Given the description of an element on the screen output the (x, y) to click on. 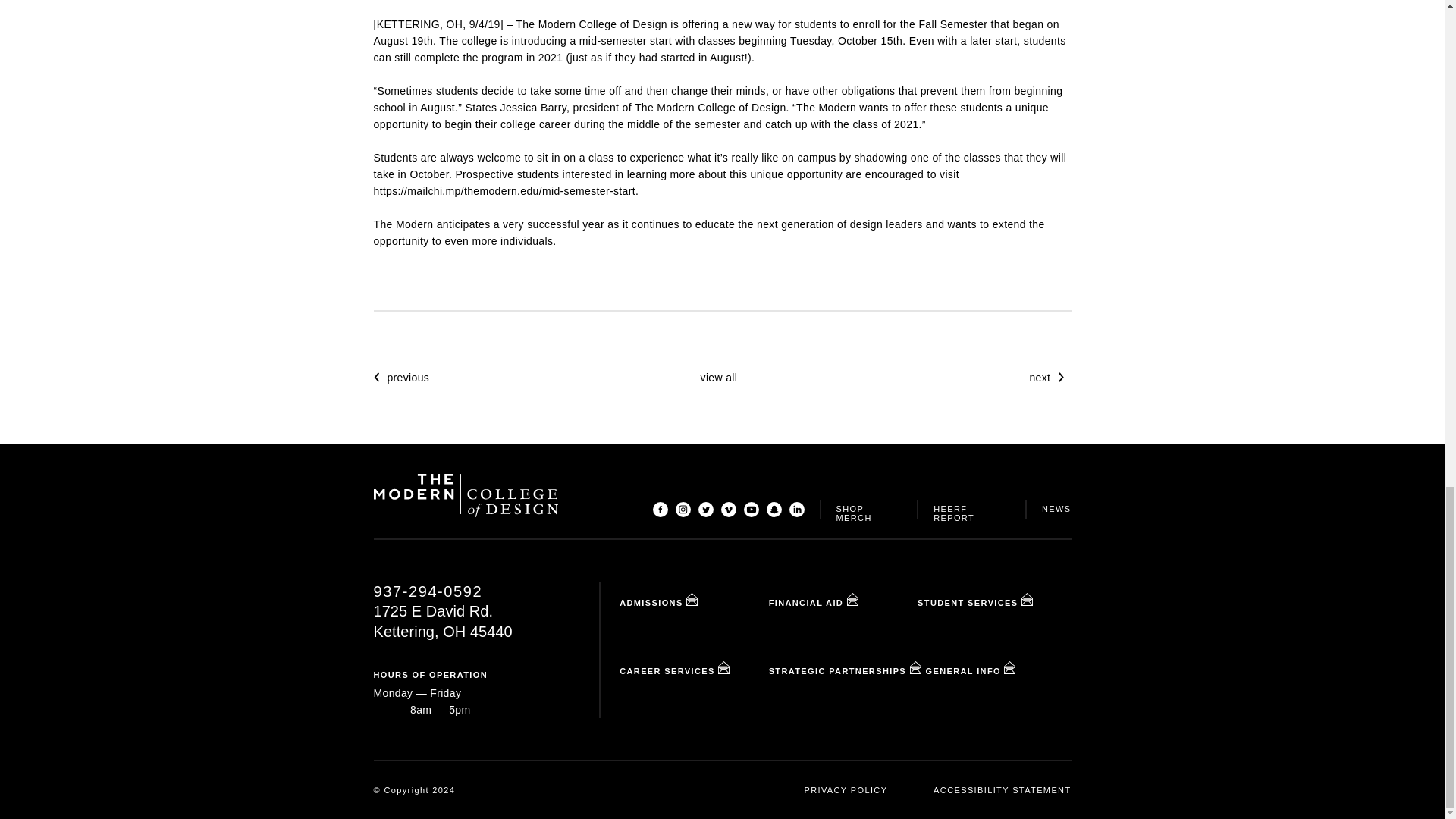
linkedInIcon (796, 509)
twitterIcon (705, 509)
vimeoIcon (727, 509)
footerModernLogo (464, 495)
facebookIcon (659, 509)
youtubeIcon (750, 509)
instagramIcon (682, 509)
snapchatIcon (772, 509)
